Given the description of an element on the screen output the (x, y) to click on. 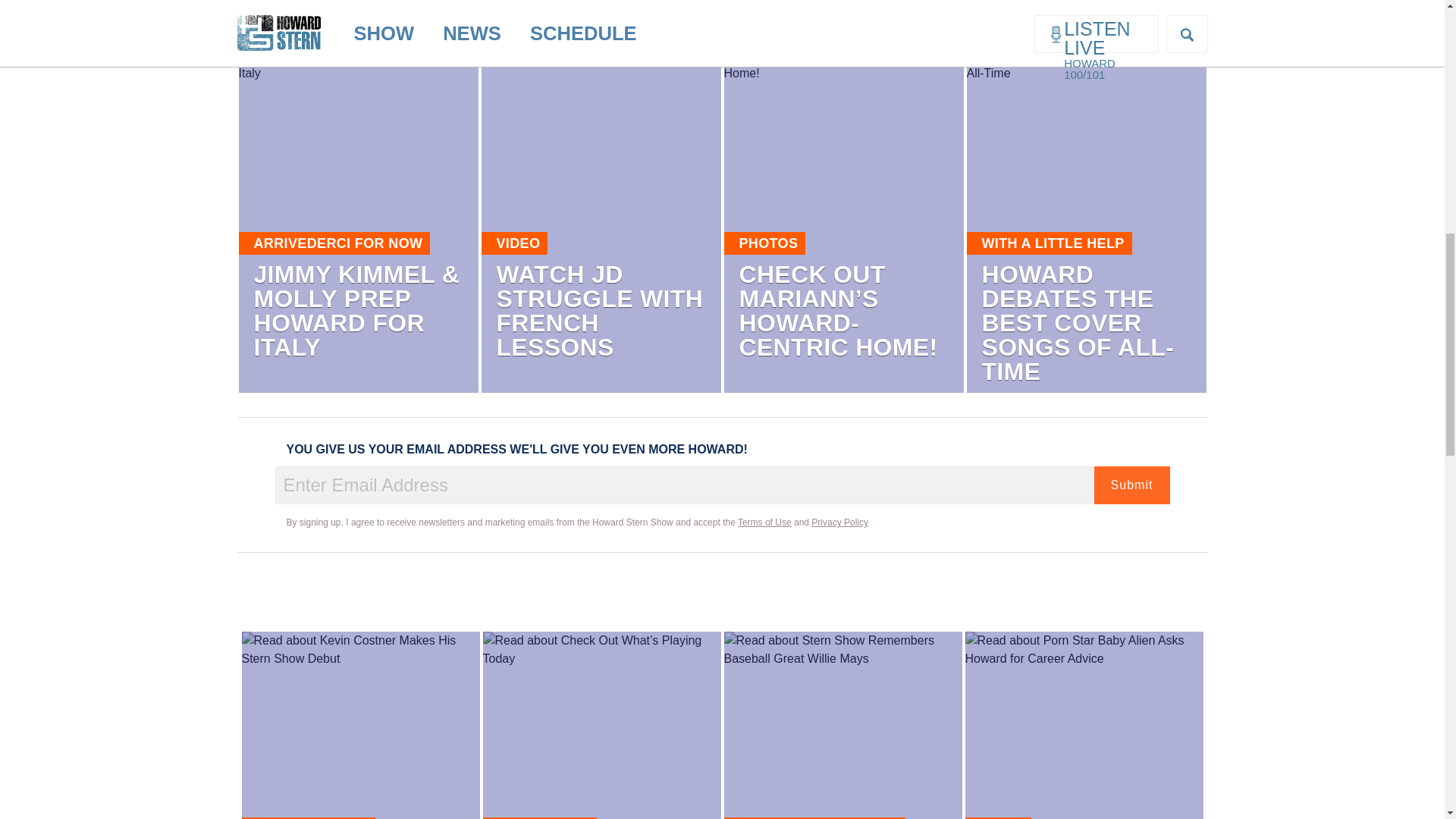
HOWARD DEBATES THE BEST COVER SONGS OF ALL-TIME (1077, 322)
Terms of Use (765, 521)
Privacy Policy (838, 521)
Submit (1131, 485)
WATCH JD STRUGGLE WITH FRENCH LESSONS (599, 311)
